Given the description of an element on the screen output the (x, y) to click on. 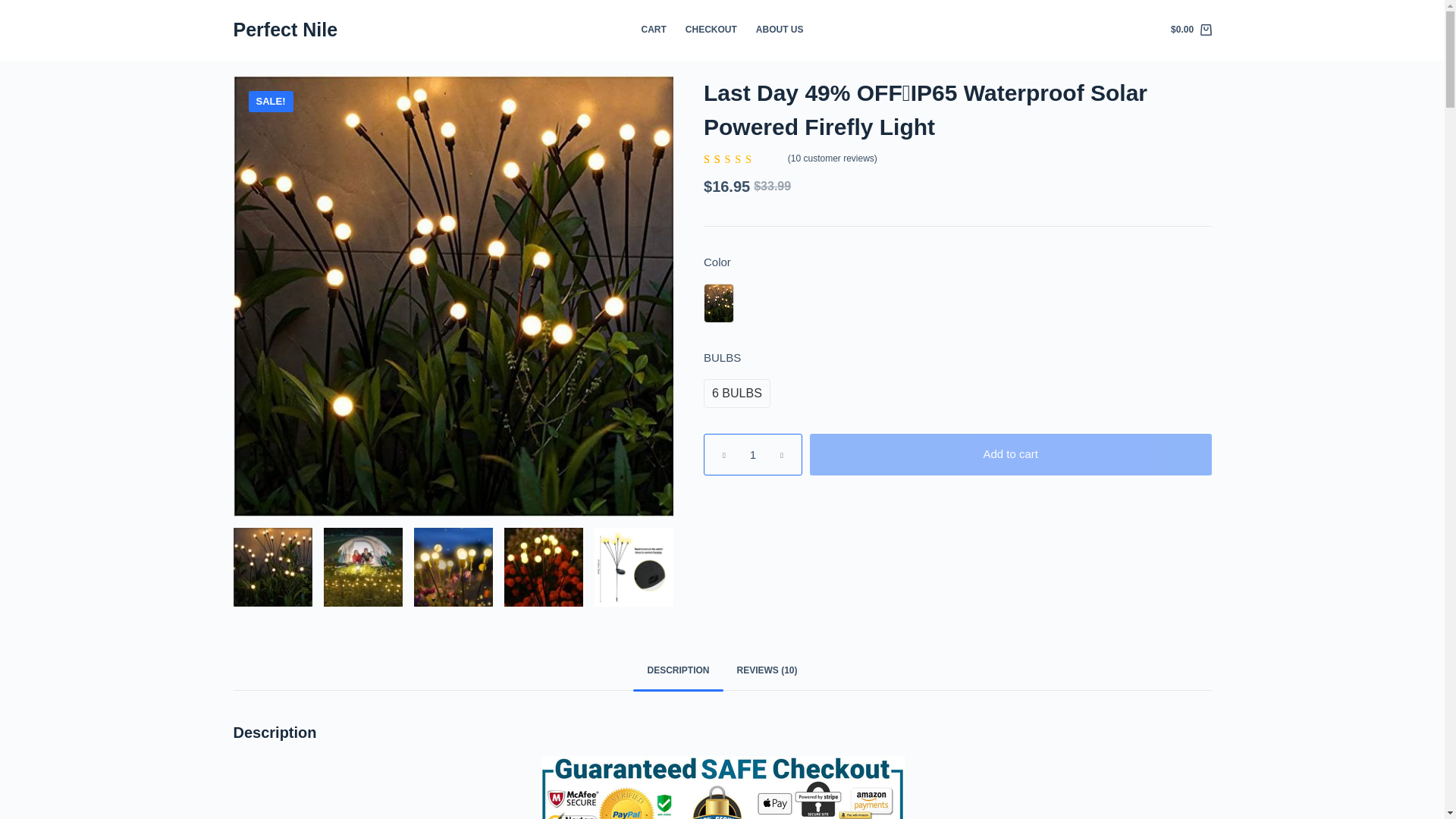
CHECKOUT (710, 30)
f7a9af359ea8b30a3e818367841af25e448aad7b (363, 566)
ABOUT US (778, 30)
Perfect Nile (284, 29)
Skip to content (15, 7)
Add to cart (1010, 454)
Qty (752, 454)
1 (752, 454)
DESCRIPTION (677, 671)
